Given the description of an element on the screen output the (x, y) to click on. 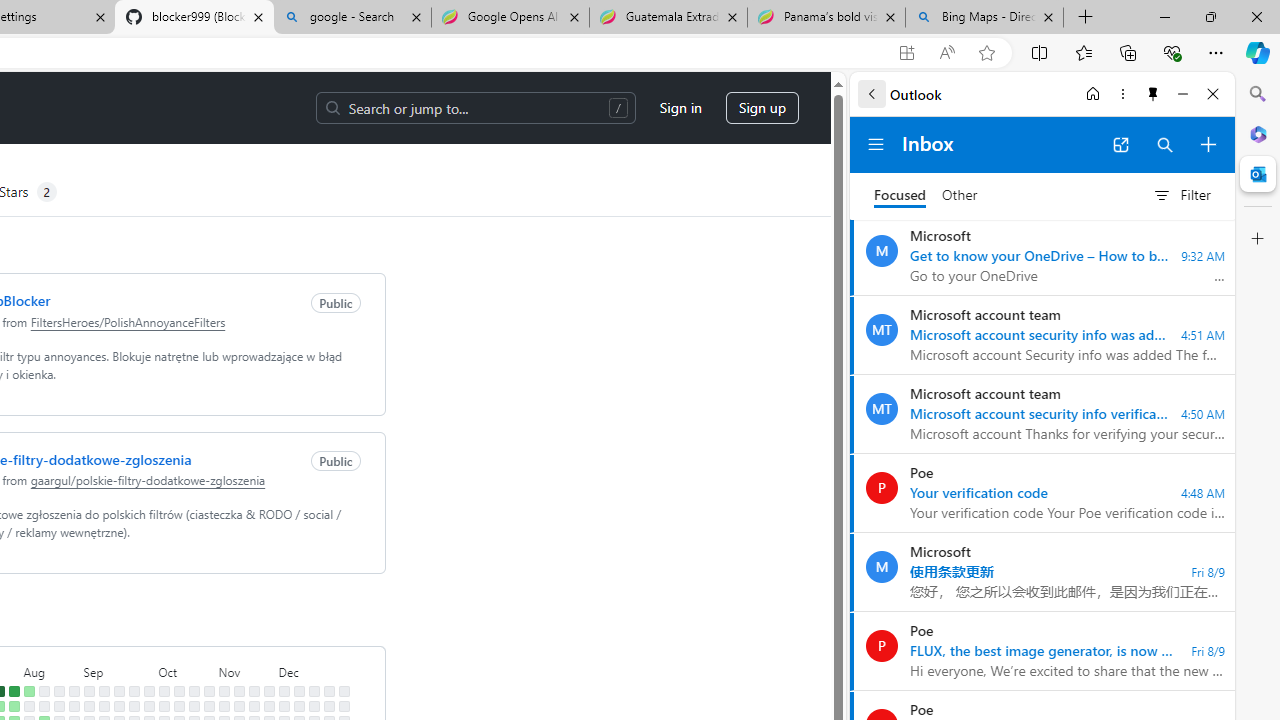
No contributions on October 6th. (163, 691)
Focused Inbox, toggle to go to Other Inbox (925, 195)
No contributions on September 23rd. (133, 706)
No contributions on December 23rd. (328, 706)
August (51, 670)
Sign up (761, 107)
No contributions on December 16th. (314, 706)
September (118, 670)
No contributions on November 11th. (238, 706)
No contributions on September 29th. (148, 691)
